Given the description of an element on the screen output the (x, y) to click on. 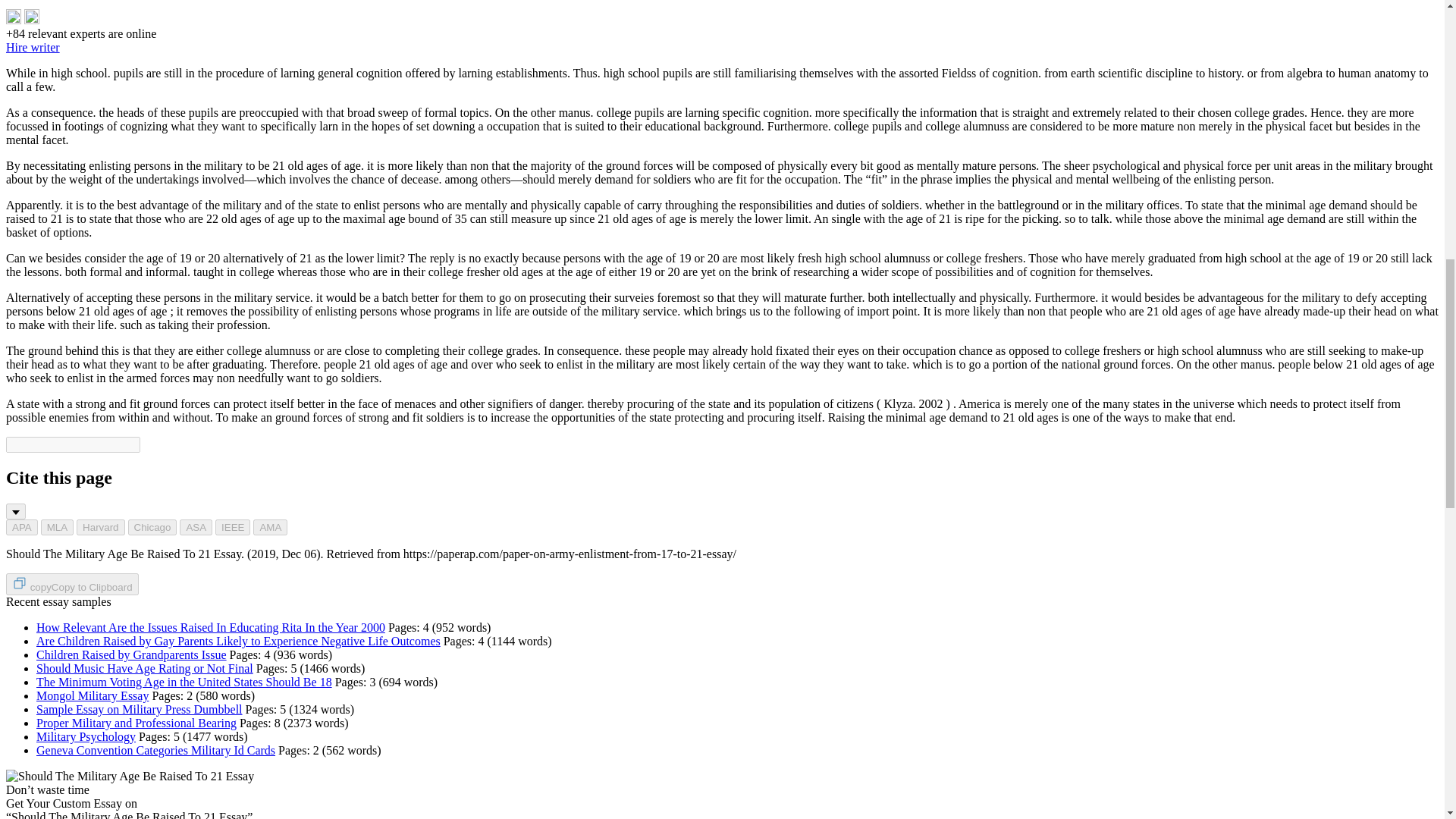
AMA (269, 527)
Should Music Have Age Rating or Not Final (144, 667)
IEEE (232, 527)
Geneva Convention Categories Military Id Cards (155, 749)
Military Psychology (85, 736)
Chicago (152, 527)
Children Raised by Grandparents Issue (131, 654)
MLA (57, 527)
Mongol Military Essay (92, 695)
Proper Military and Professional Bearing (135, 722)
The Minimum Voting Age in the United States Should Be 18 (183, 681)
copyCopy to Clipboard (71, 584)
APA (21, 527)
